Given the description of an element on the screen output the (x, y) to click on. 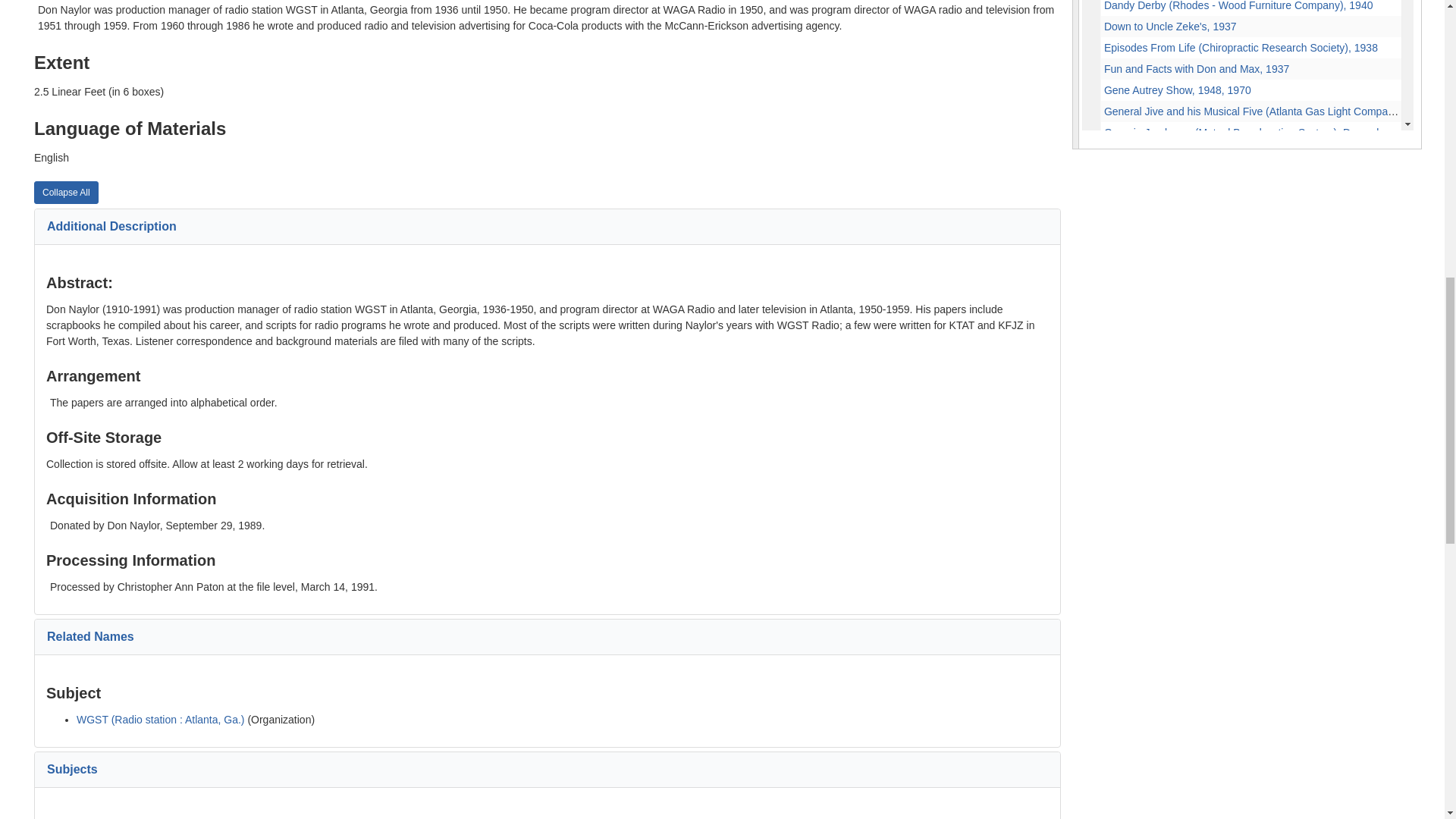
Related Names (89, 635)
Subjects (71, 768)
Collapse All (66, 191)
Additional Description (111, 226)
